Given the description of an element on the screen output the (x, y) to click on. 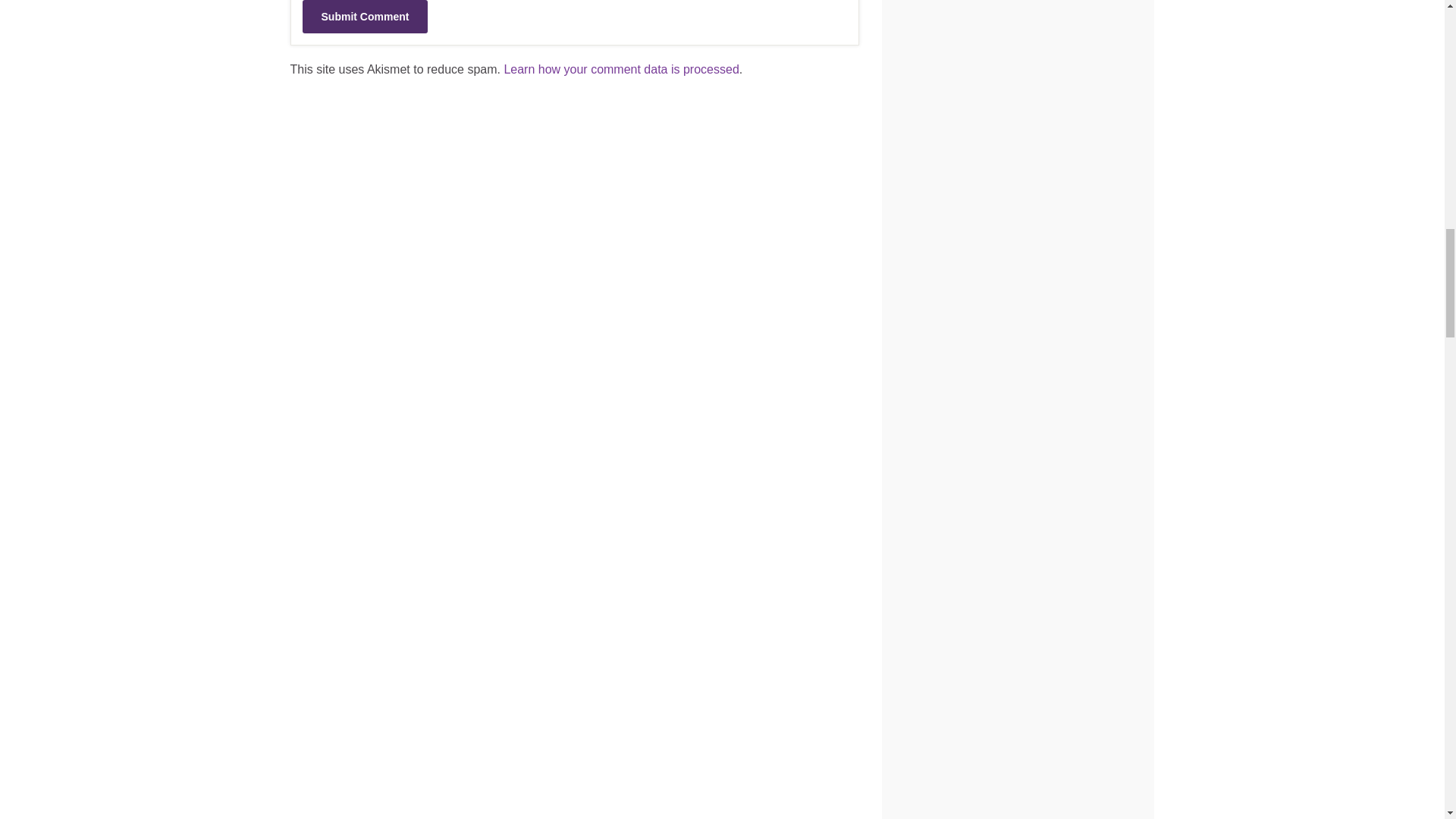
Learn how your comment data is processed (620, 69)
View my verified achievement on Credly. (953, 60)
Submit Comment (364, 16)
Submit Comment (364, 16)
